Given the description of an element on the screen output the (x, y) to click on. 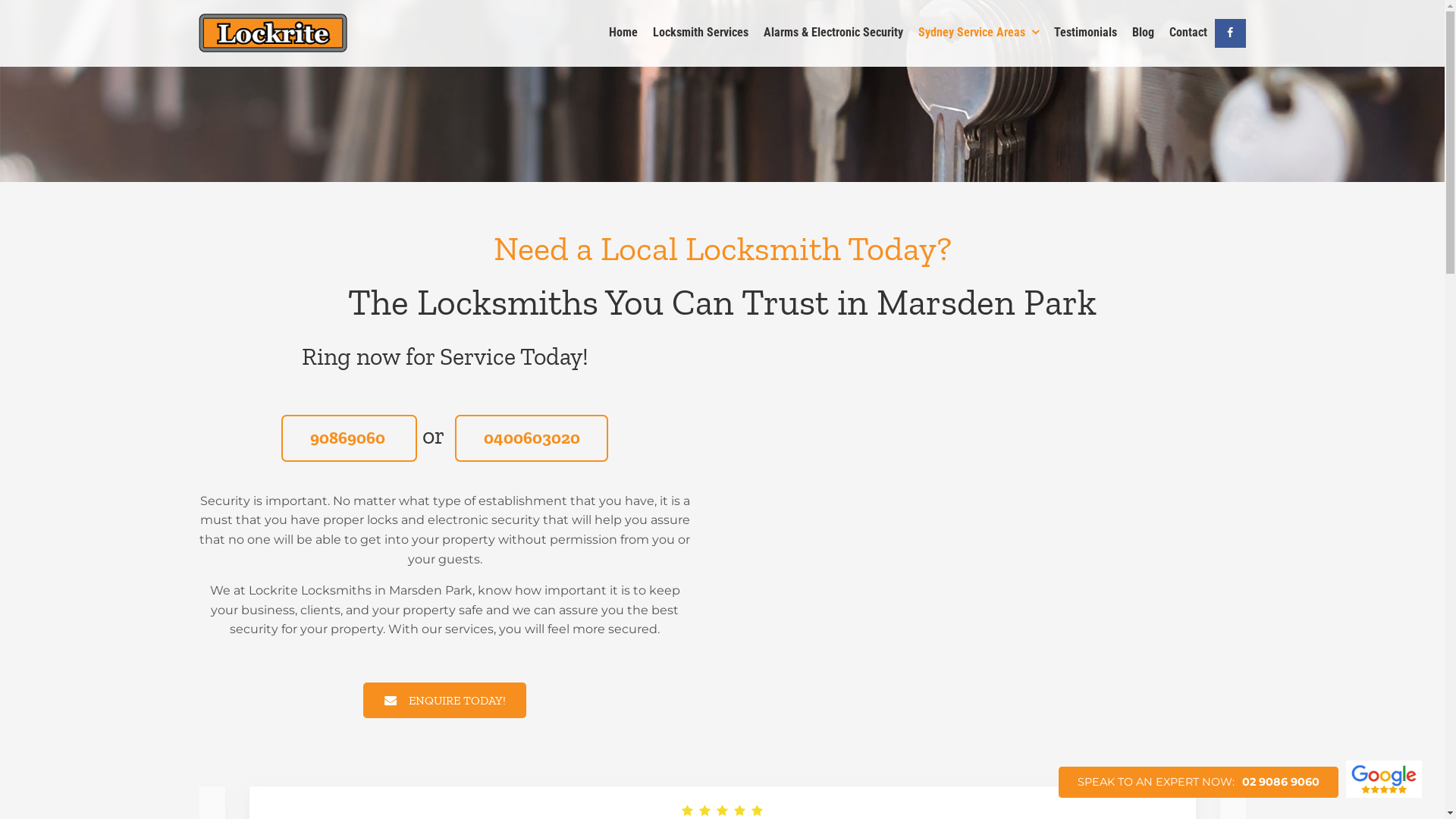
0400603020 Element type: text (531, 437)
Sydney Service Areas Element type: text (978, 33)
Testimonials Element type: text (1085, 33)
SPEAK TO AN EXPERT NOW:02 9086 9060 Element type: text (1198, 781)
ENQUIRE TODAY! Element type: text (444, 700)
Locksmith Services Element type: text (700, 33)
90869060  Element type: text (349, 437)
Blog Element type: text (1142, 33)
Home Element type: text (623, 33)
Alarms & Electronic Security Element type: text (833, 33)
Contact Element type: text (1187, 33)
